Given the description of an element on the screen output the (x, y) to click on. 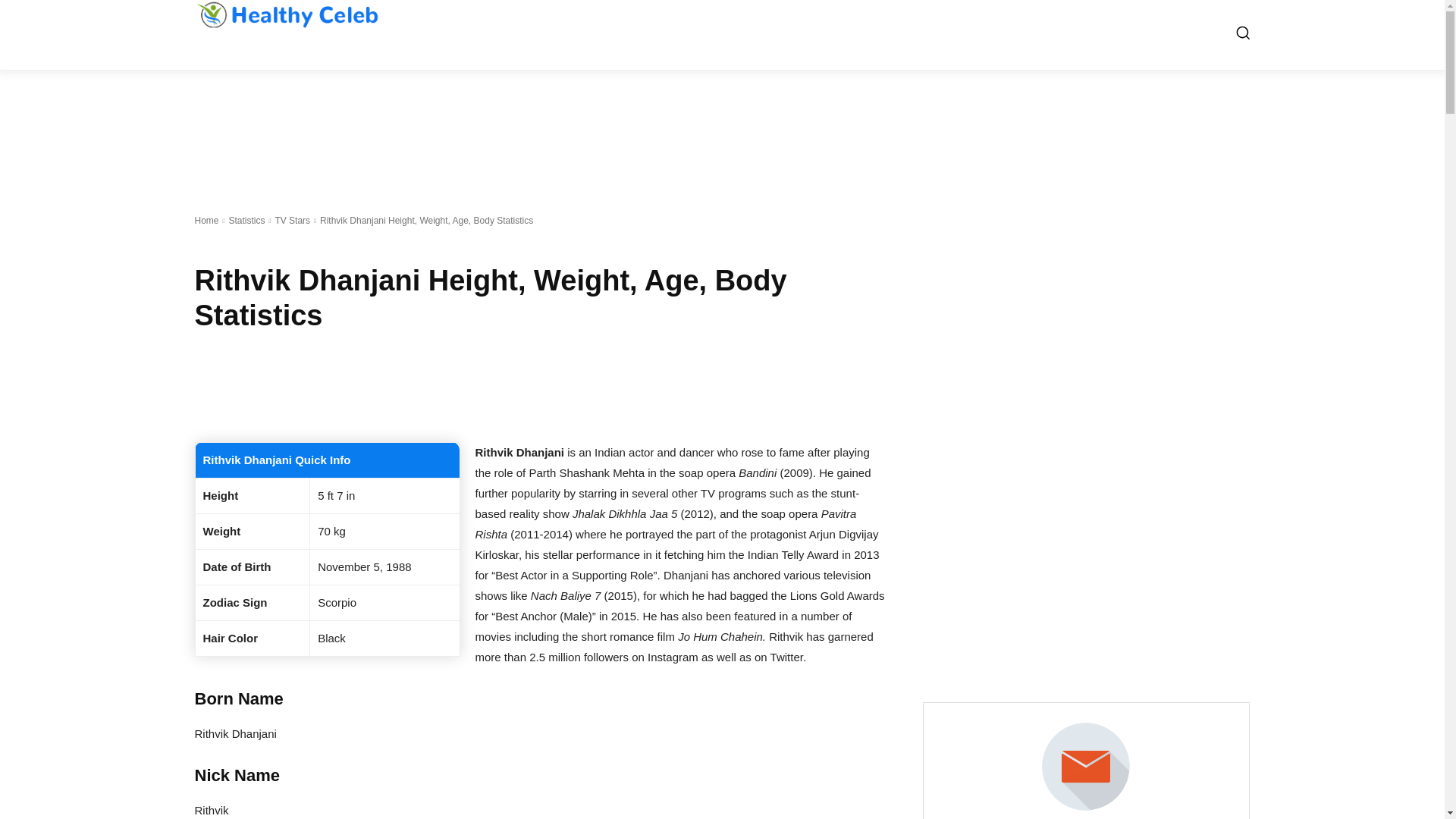
View all posts in Statistics (246, 220)
Healthy Celeb (285, 14)
